Given the description of an element on the screen output the (x, y) to click on. 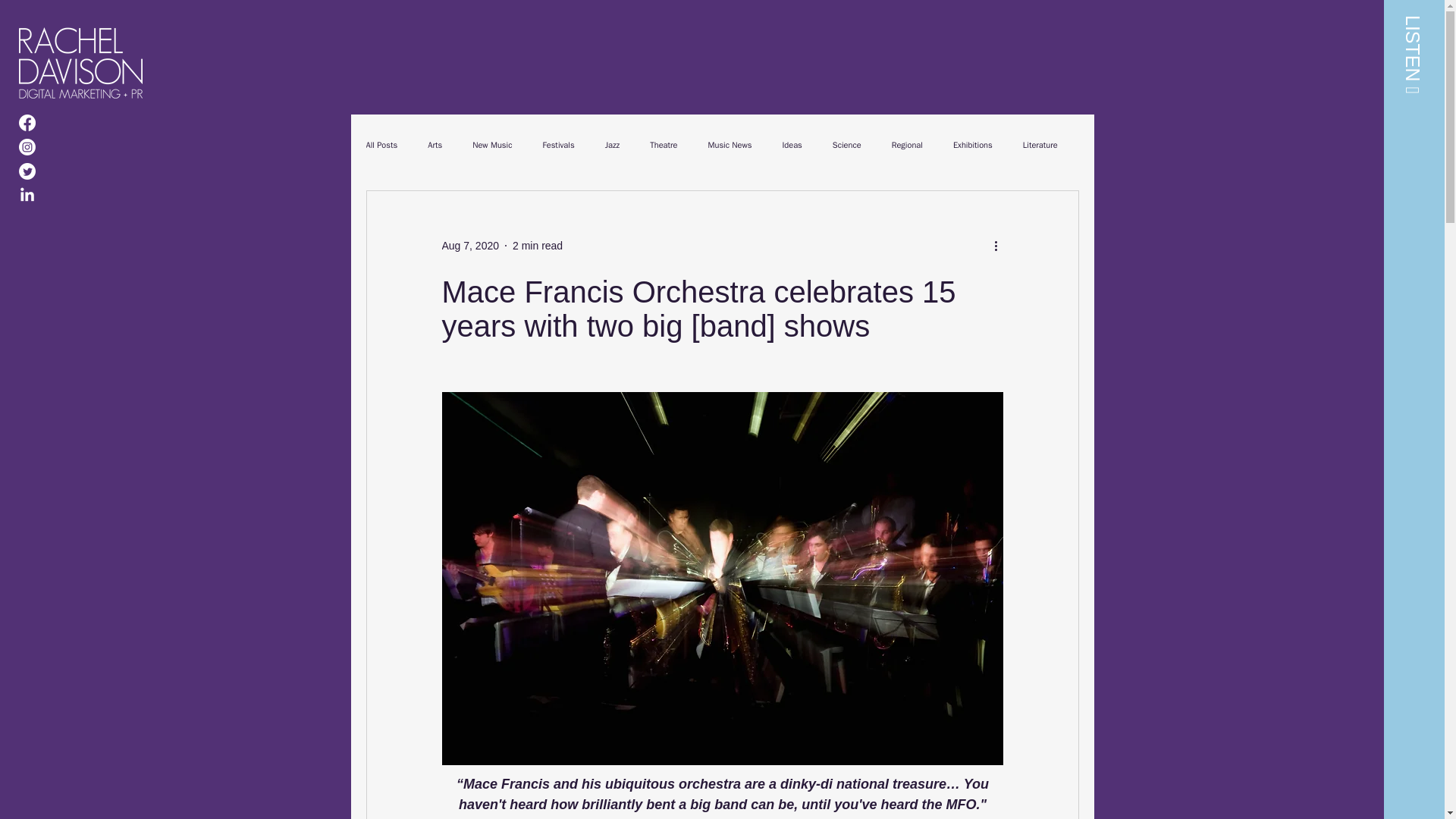
Music News (729, 144)
2 min read (537, 245)
Festivals (557, 144)
Regional (907, 144)
All Posts (381, 144)
New Music (491, 144)
Arts (435, 144)
Ideas (791, 144)
Theatre (663, 144)
Science (846, 144)
Literature (1040, 144)
Exhibitions (972, 144)
Jazz (612, 144)
Aug 7, 2020 (470, 245)
